Given the description of an element on the screen output the (x, y) to click on. 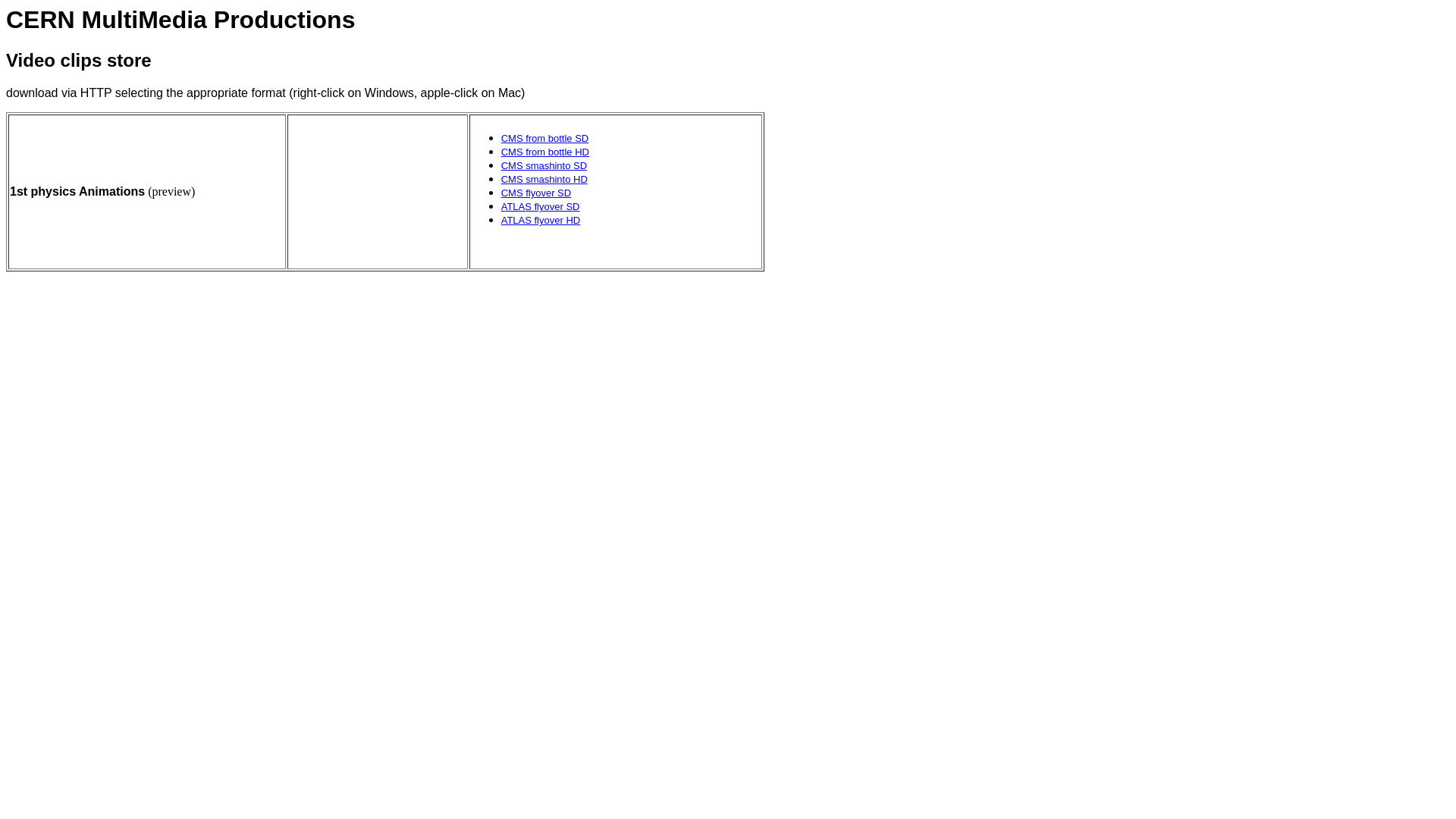
CMS from bottle HD Element type: text (545, 151)
D Element type: text (583, 179)
CMS flyover SD Element type: text (536, 192)
CMS from bottle SD Element type: text (545, 138)
ATLAS flyover SD Element type: text (540, 206)
CMS smashinto H Element type: text (540, 179)
CMS smashinto SD Element type: text (543, 165)
ATLAS flyover HD Element type: text (540, 219)
